Given the description of an element on the screen output the (x, y) to click on. 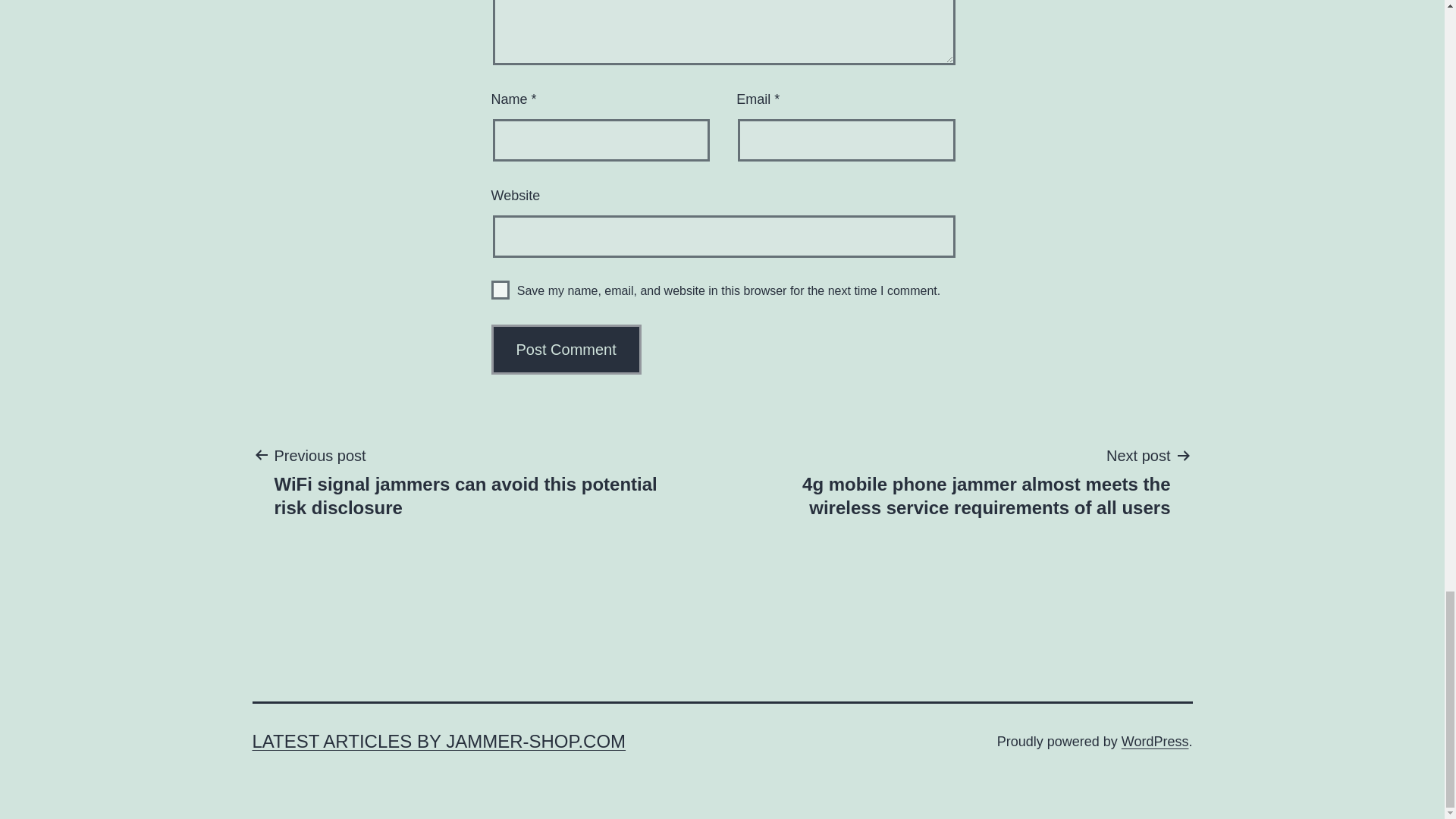
LATEST ARTICLES BY JAMMER-SHOP.COM (438, 741)
Post Comment (567, 349)
Post Comment (567, 349)
yes (500, 289)
WordPress (1155, 741)
